Given the description of an element on the screen output the (x, y) to click on. 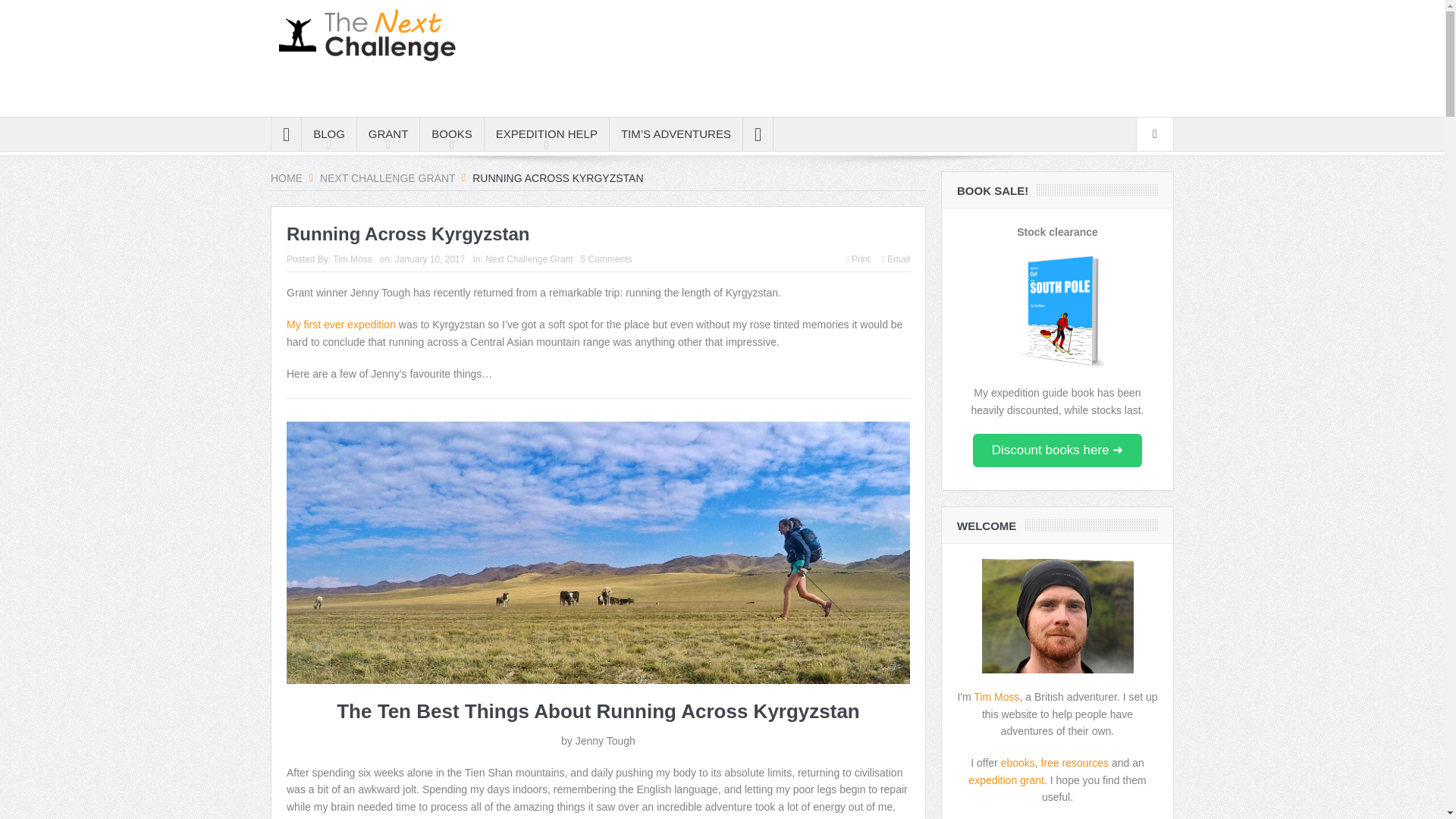
BOOKS (451, 133)
BLOG (328, 133)
View all posts in Next Challenge Grant (528, 258)
GRANT (388, 133)
Next Challenge Grant (387, 177)
EXPEDITION HELP (546, 133)
